Given the description of an element on the screen output the (x, y) to click on. 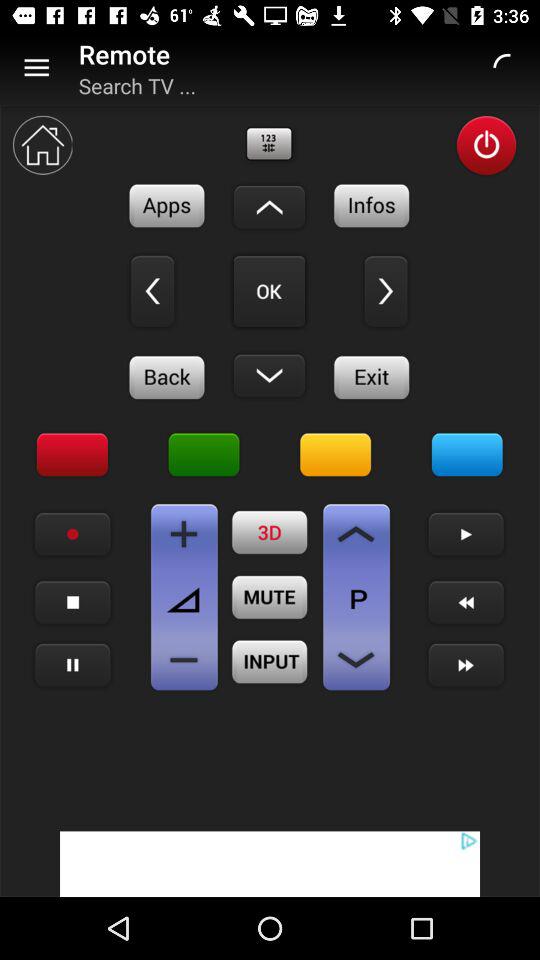
the button was made for exit (371, 377)
